Given the description of an element on the screen output the (x, y) to click on. 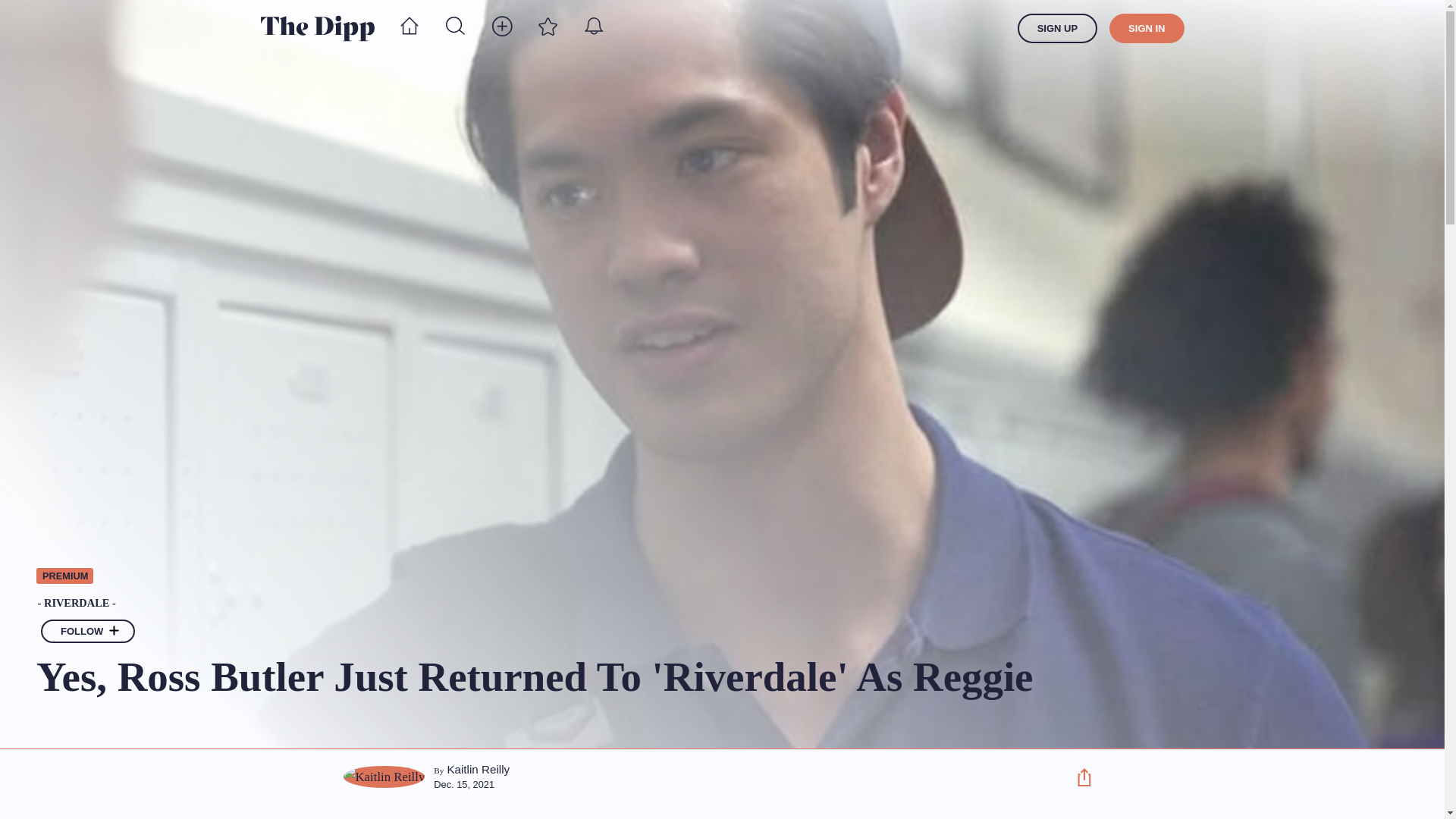
SIGN IN (1146, 28)
Kaitlin Reilly (477, 768)
SIGN UP (1057, 28)
Dipp (317, 28)
- RIVERDALE - (542, 603)
FOLLOW (87, 631)
